Given the description of an element on the screen output the (x, y) to click on. 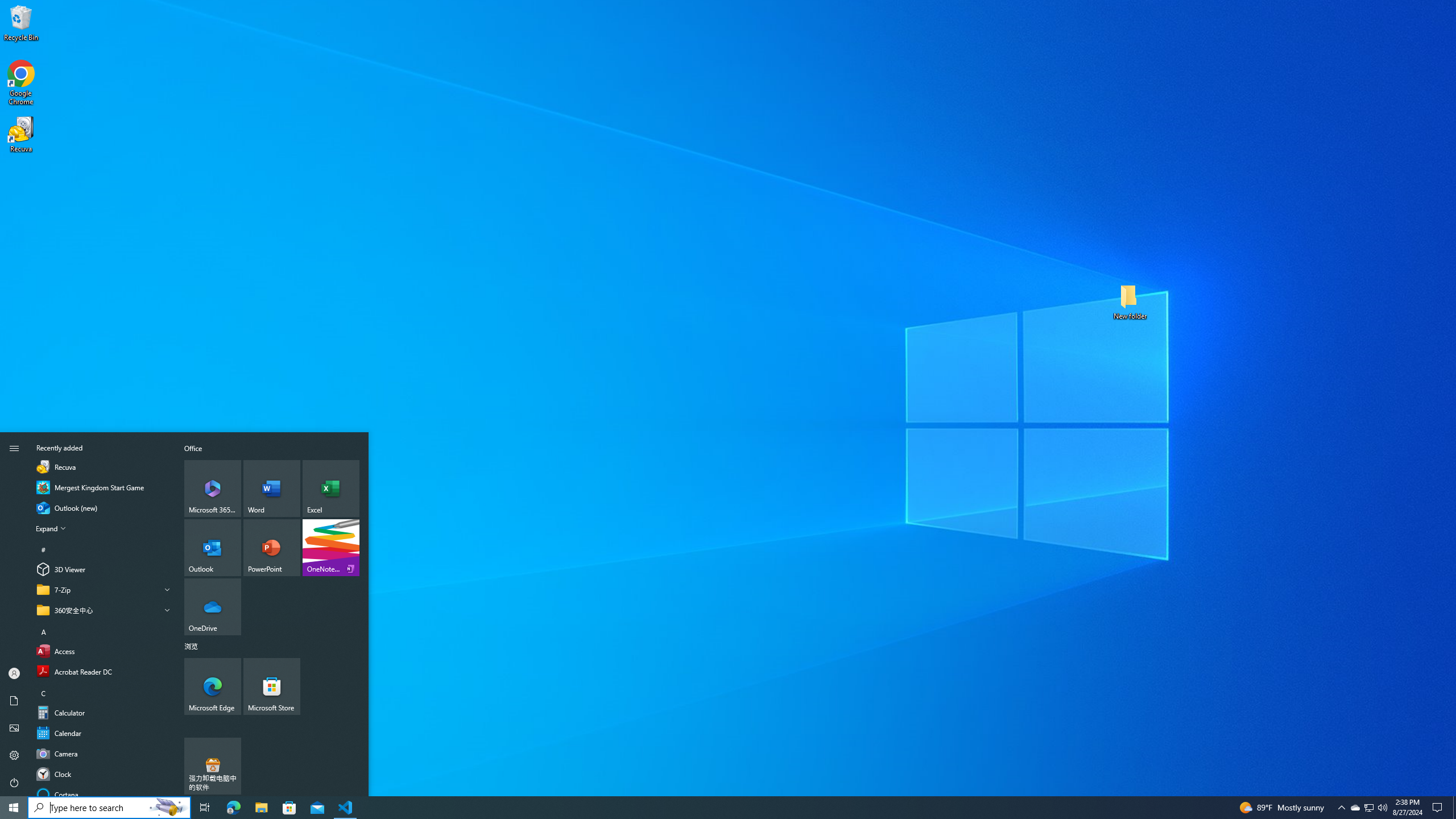
Search Highlights Icon (167, 807)
Search box (86, 807)
